Given the description of an element on the screen output the (x, y) to click on. 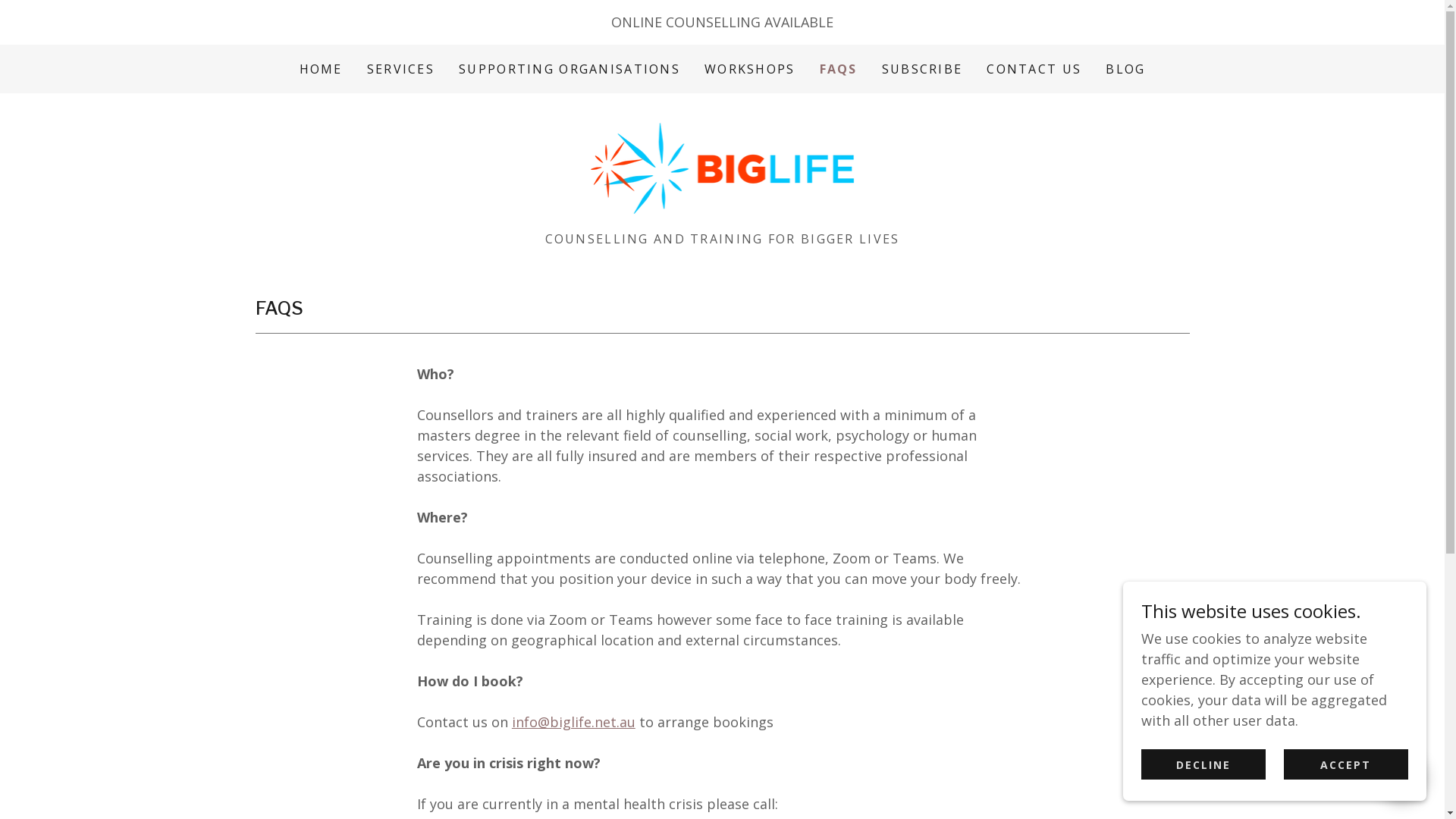
CONTACT US Element type: text (1033, 68)
DECLINE Element type: text (1203, 764)
SERVICES Element type: text (400, 68)
ACCEPT Element type: text (1345, 764)
SUPPORTING ORGANISATIONS Element type: text (569, 68)
FAQS Element type: text (838, 68)
info@biglife.net.au Element type: text (573, 721)
BLOG Element type: text (1125, 68)
HOME Element type: text (320, 68)
SUBSCRIBE Element type: text (922, 68)
WORKSHOPS Element type: text (749, 68)
